Given the description of an element on the screen output the (x, y) to click on. 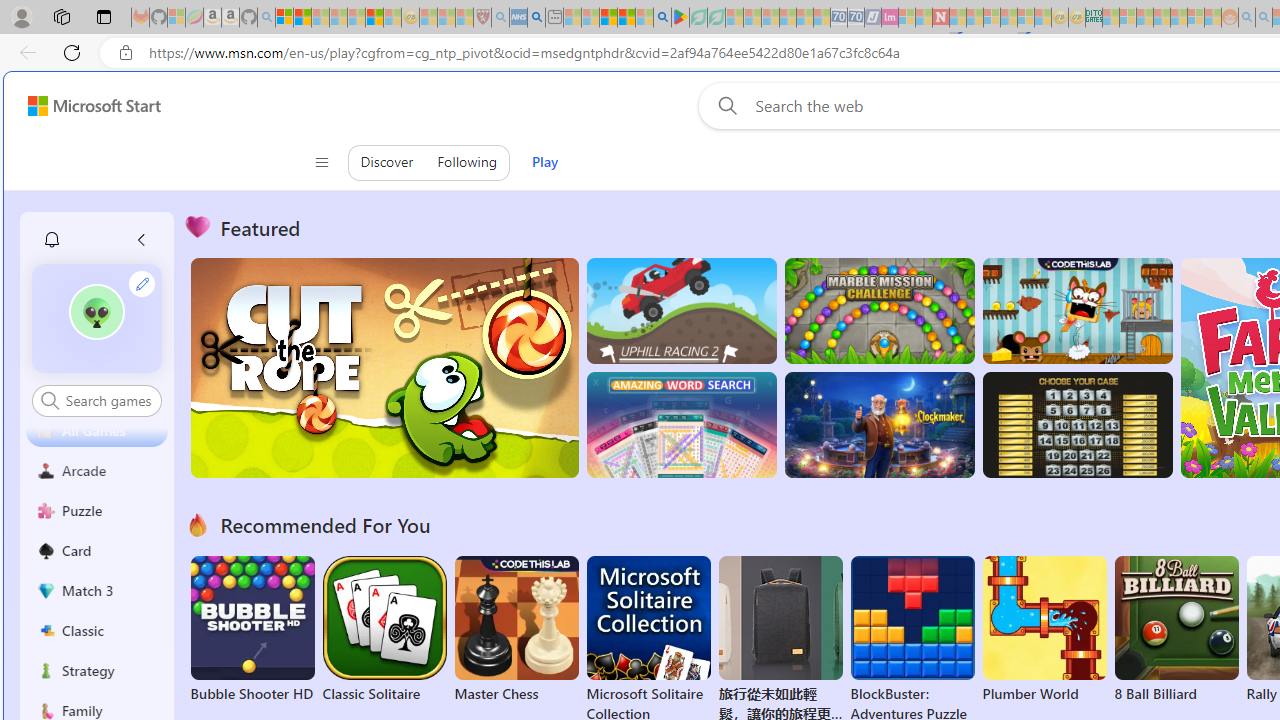
AutomationID: control (108, 400)
